Given the description of an element on the screen output the (x, y) to click on. 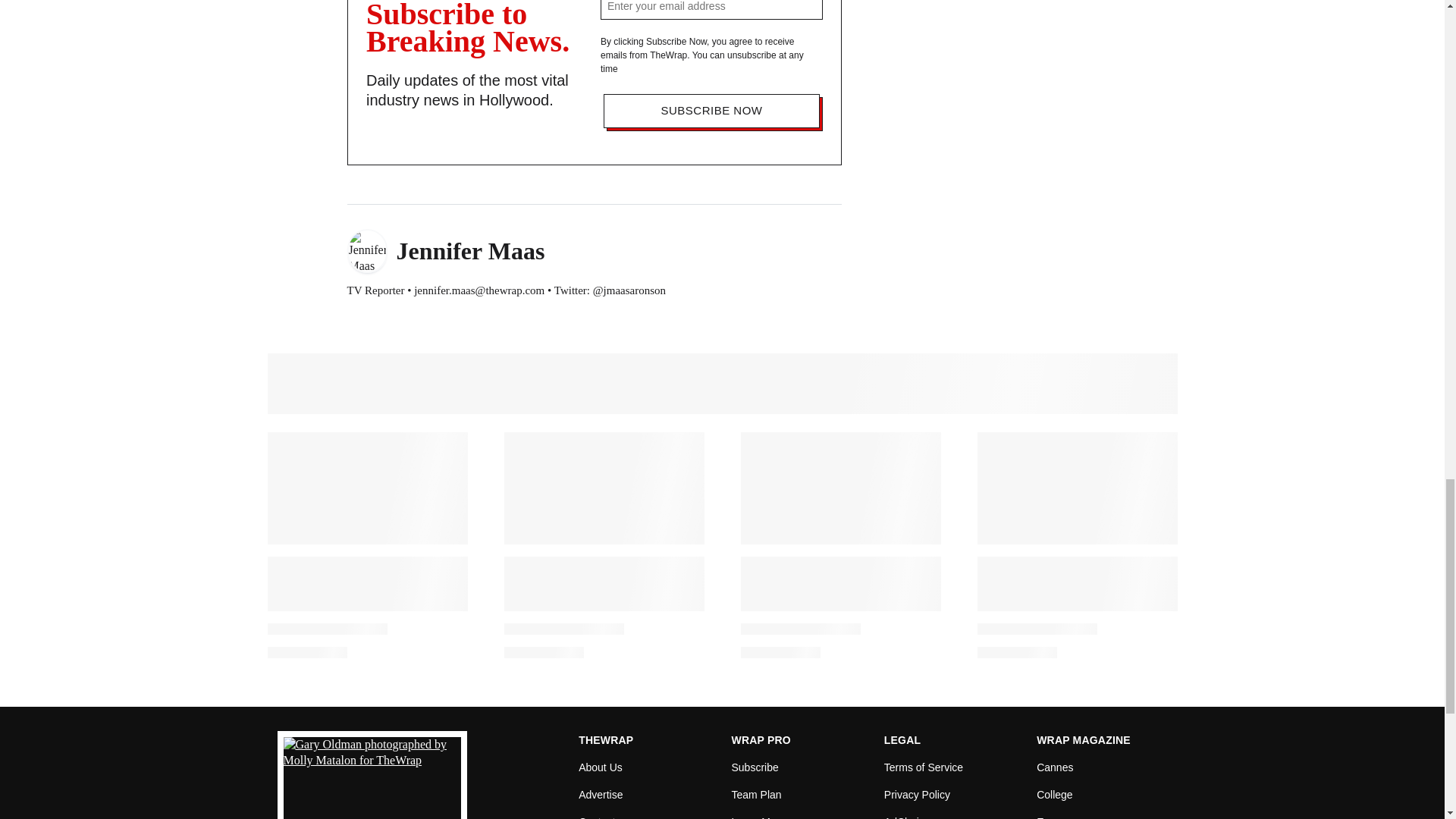
Learn more about becoming a member (758, 813)
